Given the description of an element on the screen output the (x, y) to click on. 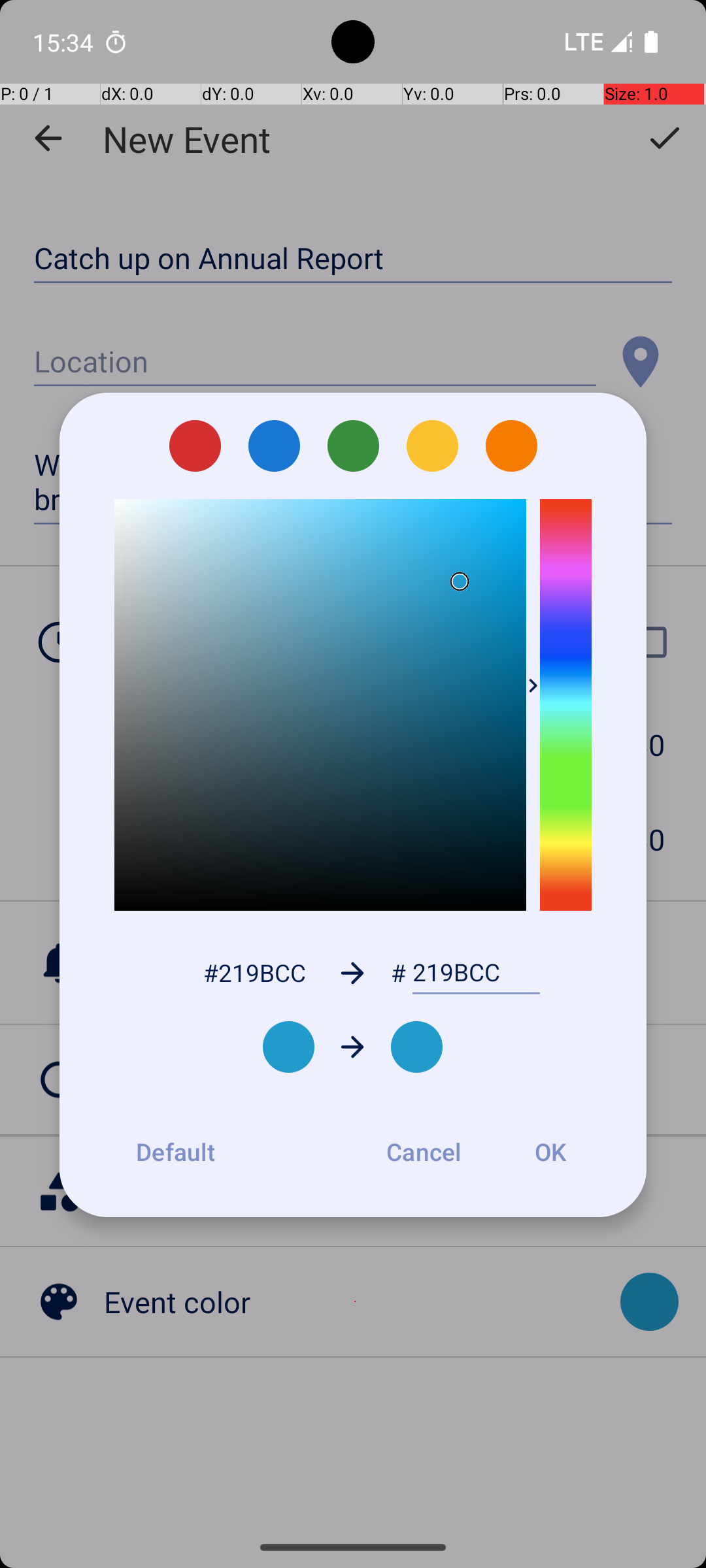
219BCC Element type: android.widget.EditText (475, 972)
